Given the description of an element on the screen output the (x, y) to click on. 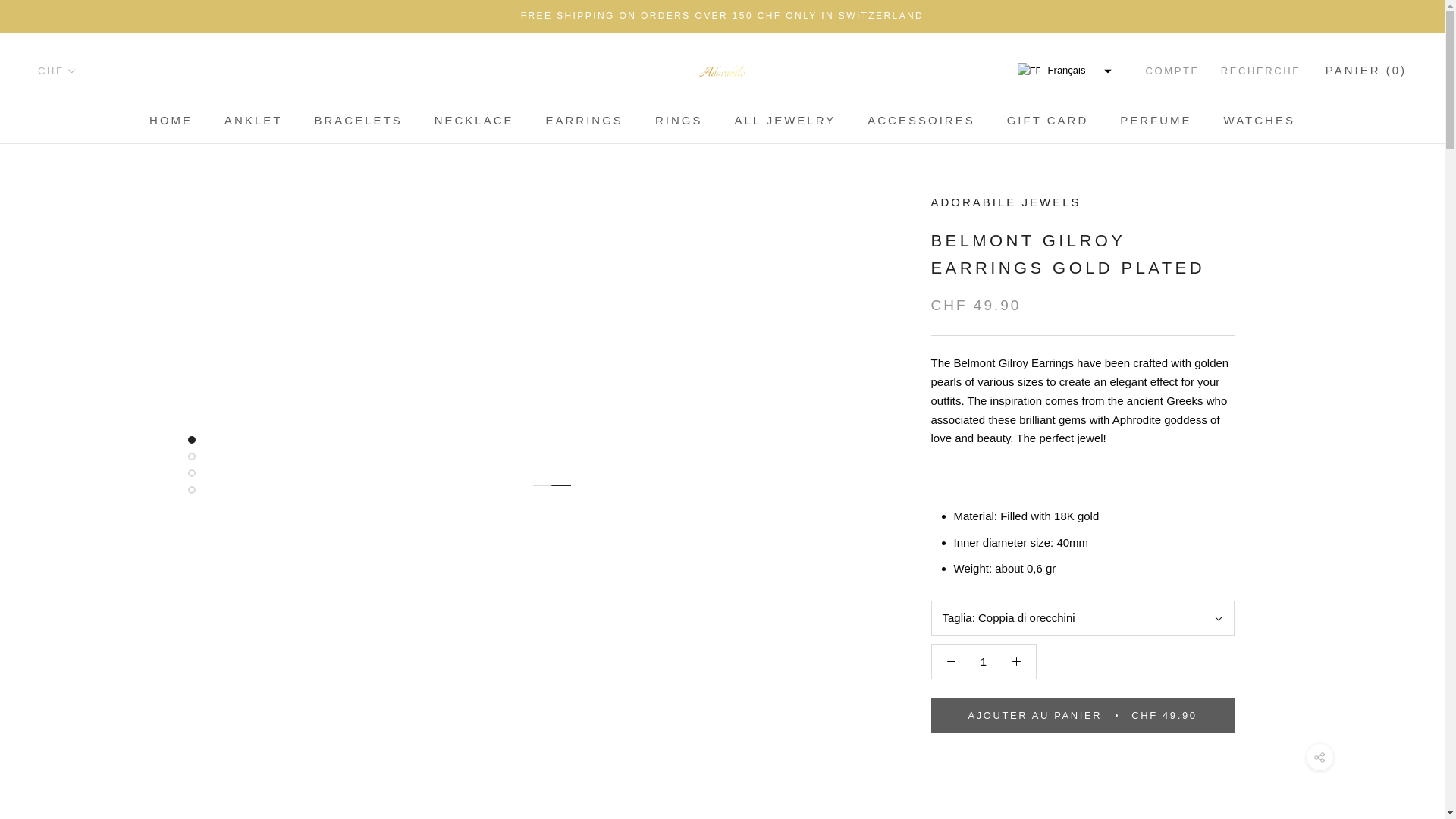
COMPTE (473, 119)
RECHERCHE (784, 119)
1 (253, 119)
